Given the description of an element on the screen output the (x, y) to click on. 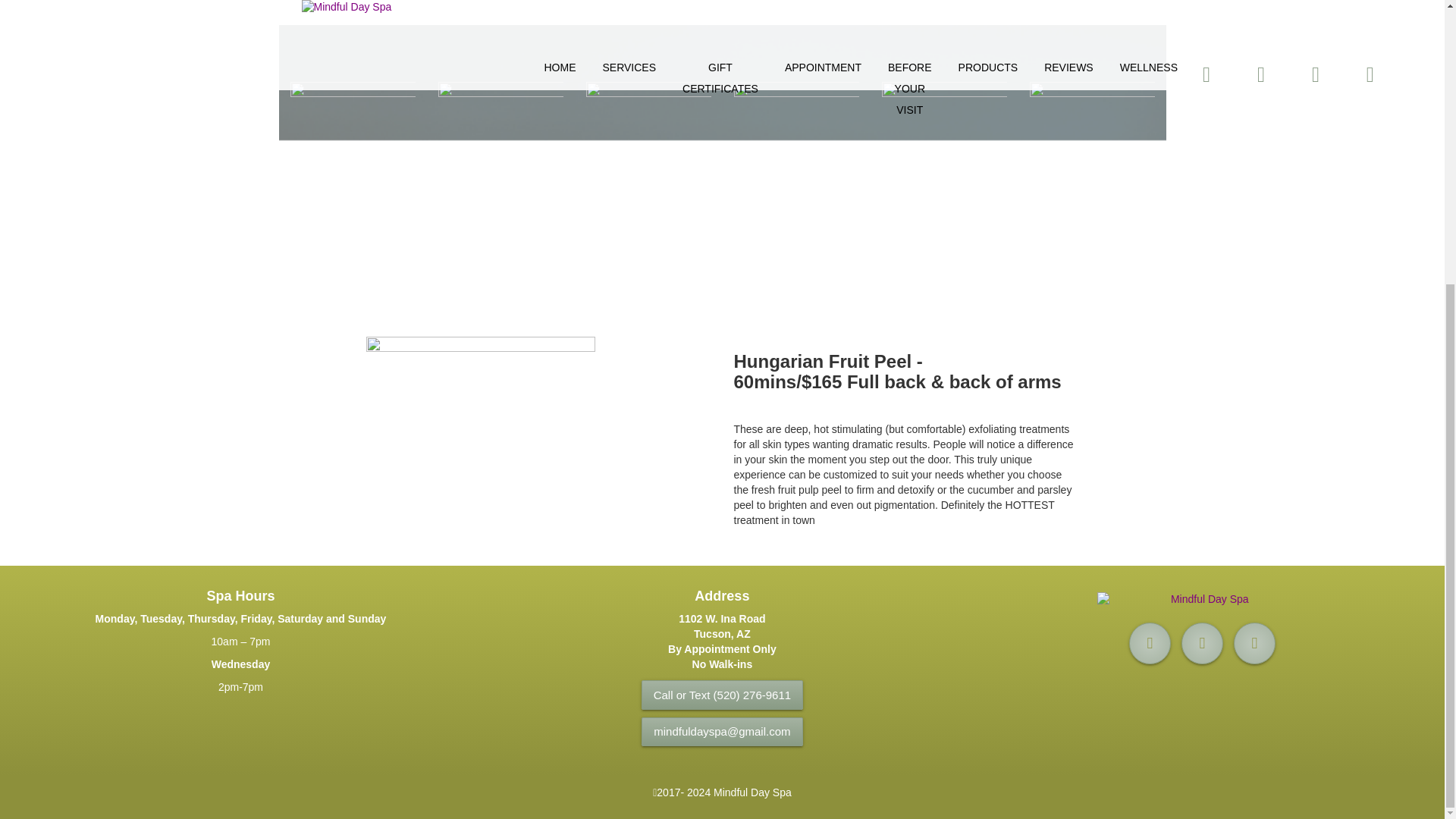
Mindful Day Spa (1204, 594)
